Given the description of an element on the screen output the (x, y) to click on. 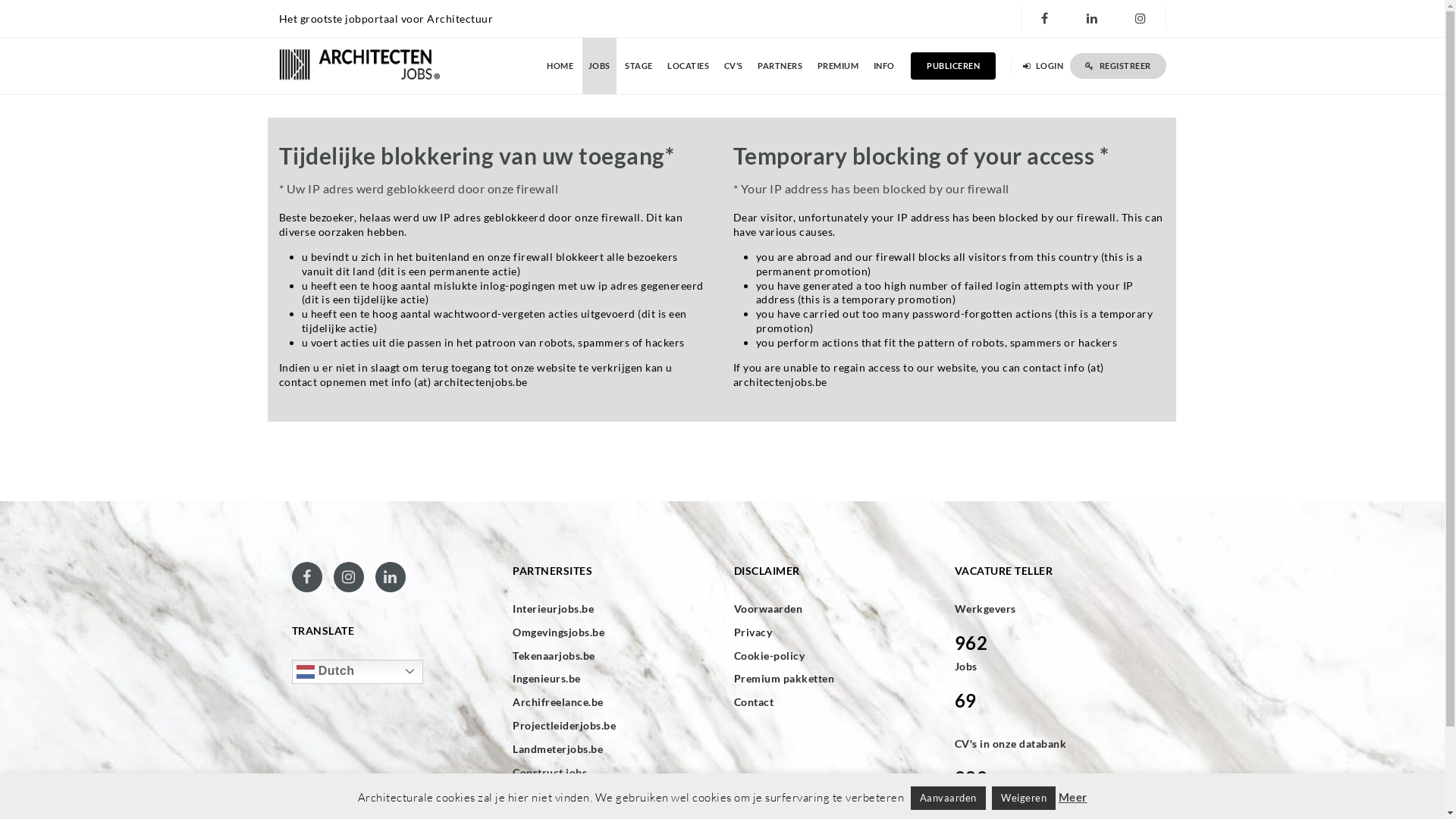
PREMIUM Element type: text (838, 65)
Tekenaarjobs.be Element type: text (611, 655)
JOBS Element type: text (599, 65)
Meer Element type: text (1072, 796)
Archifreelance.be Element type: text (611, 702)
Omgevingsjobs.be Element type: text (611, 632)
Ingenieurs.be Element type: text (611, 678)
Projectleiderjobs.be Element type: text (611, 725)
Contact Element type: text (832, 702)
 LOGIN Element type: text (1044, 65)
 REGISTREER Element type: text (1117, 65)
Landmeterjobs.be Element type: text (611, 749)
Dutch Element type: text (357, 671)
Weigeren Element type: text (1023, 797)
STAGE Element type: text (638, 65)
PUBLICEREN Element type: text (952, 65)
PARTNERS Element type: text (779, 65)
Aanvaarden Element type: text (947, 797)
HOME Element type: text (559, 65)
Voorwaarden Element type: text (832, 608)
INFO Element type: text (883, 65)
Construct.jobs Element type: text (611, 772)
Werkgevers Element type: text (985, 608)
LOCATIES Element type: text (688, 65)
Interieurjobs.be Element type: text (611, 608)
Jobs Element type: text (965, 665)
Cookie-policy Element type: text (832, 655)
Privacy Element type: text (832, 632)
Premium pakketten Element type: text (832, 678)
CV's in onze databank Element type: text (1010, 743)
